Given the description of an element on the screen output the (x, y) to click on. 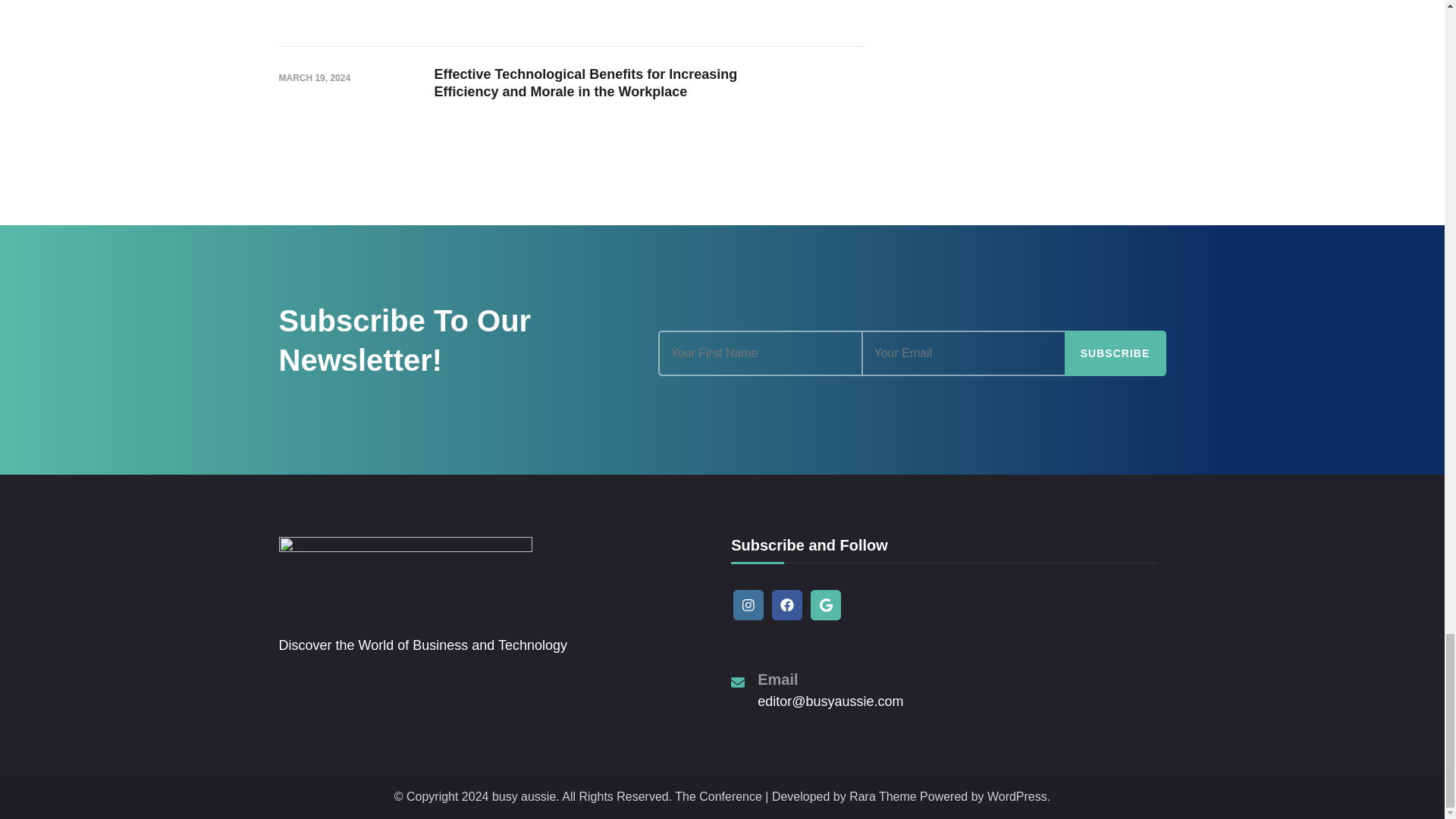
Subscribe (1115, 352)
instagram (747, 604)
MARCH 19, 2024 (314, 78)
google (825, 604)
facebook (786, 604)
